Given the description of an element on the screen output the (x, y) to click on. 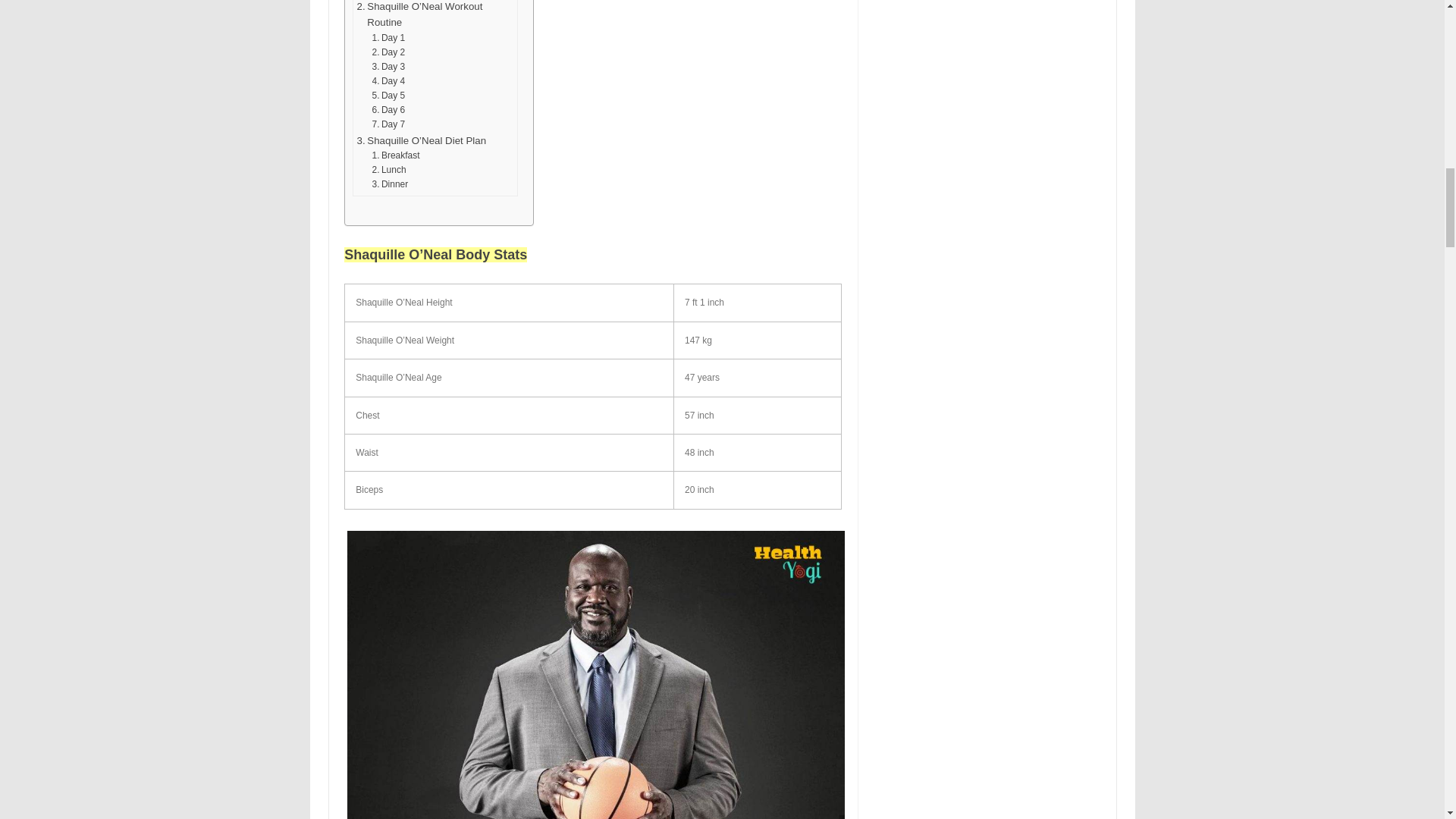
Day 5 (389, 95)
Day 5 (389, 95)
Day 1 (389, 38)
Day 1 (389, 38)
Dinner  (391, 184)
Day 7 (389, 124)
Day 7 (389, 124)
Day 3 (389, 66)
Lunch  (390, 169)
